Given the description of an element on the screen output the (x, y) to click on. 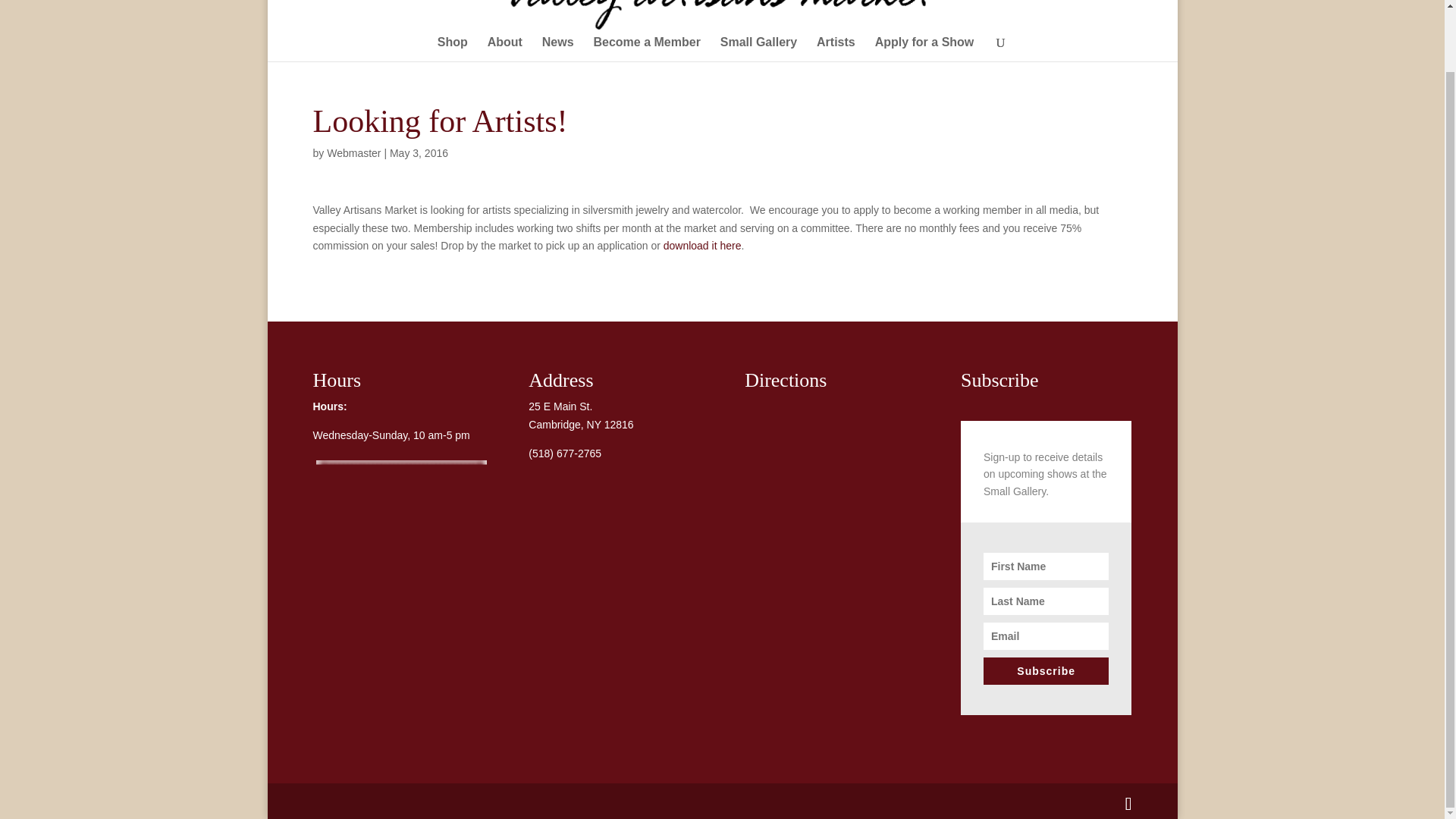
About (504, 48)
Become a Member (646, 48)
Small Gallery (758, 48)
Subscribe (1046, 670)
Shop (452, 48)
Webmaster (353, 152)
download it here (702, 245)
Apply for a Show (924, 48)
News (557, 48)
Artists (836, 48)
